Given the description of an element on the screen output the (x, y) to click on. 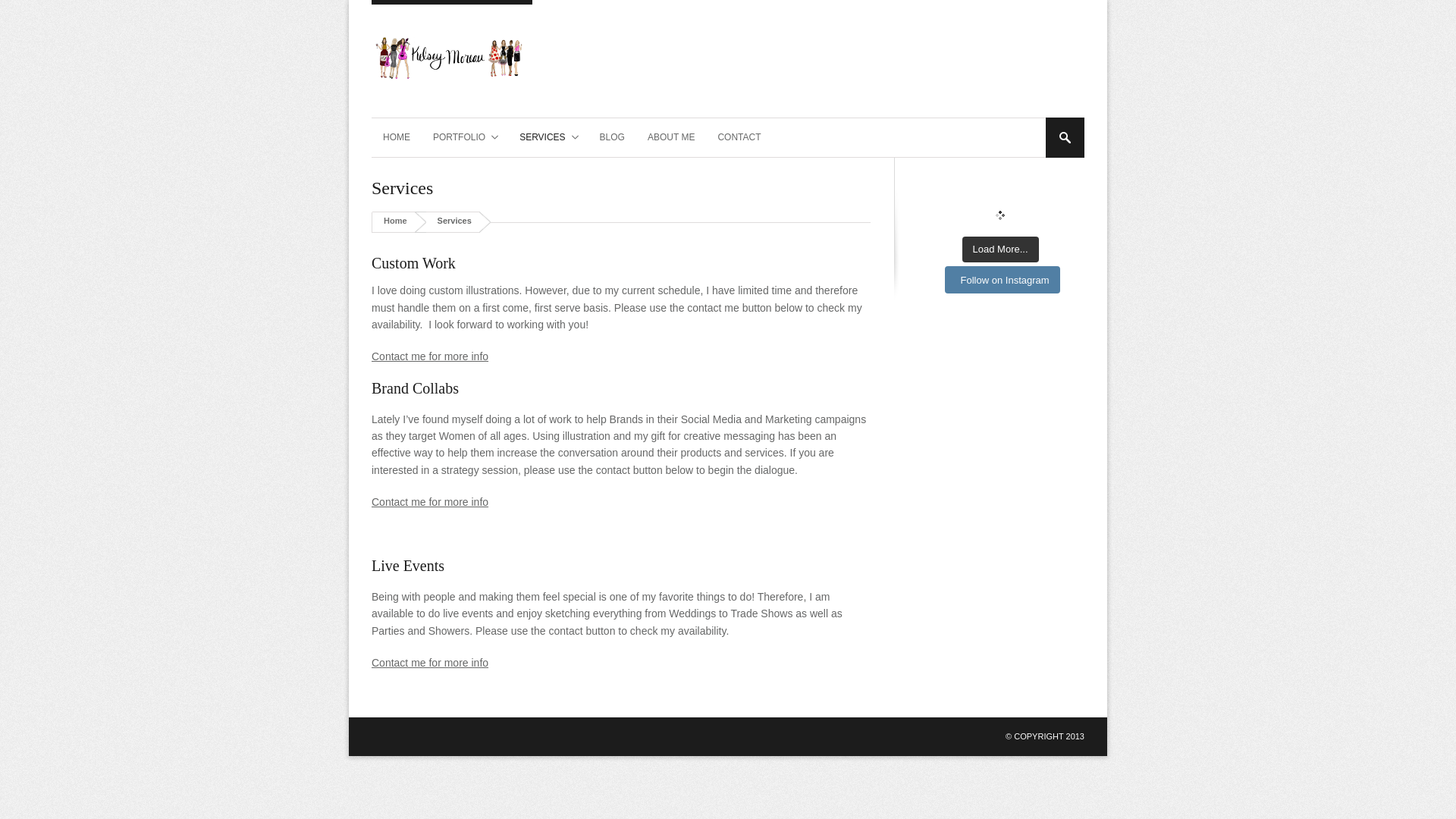
BLOG (612, 137)
HOME (396, 137)
Contact me for more info (429, 356)
CONTACT (738, 137)
Home (395, 220)
ABOUT ME (671, 137)
Contact me for more info (429, 501)
